Given the description of an element on the screen output the (x, y) to click on. 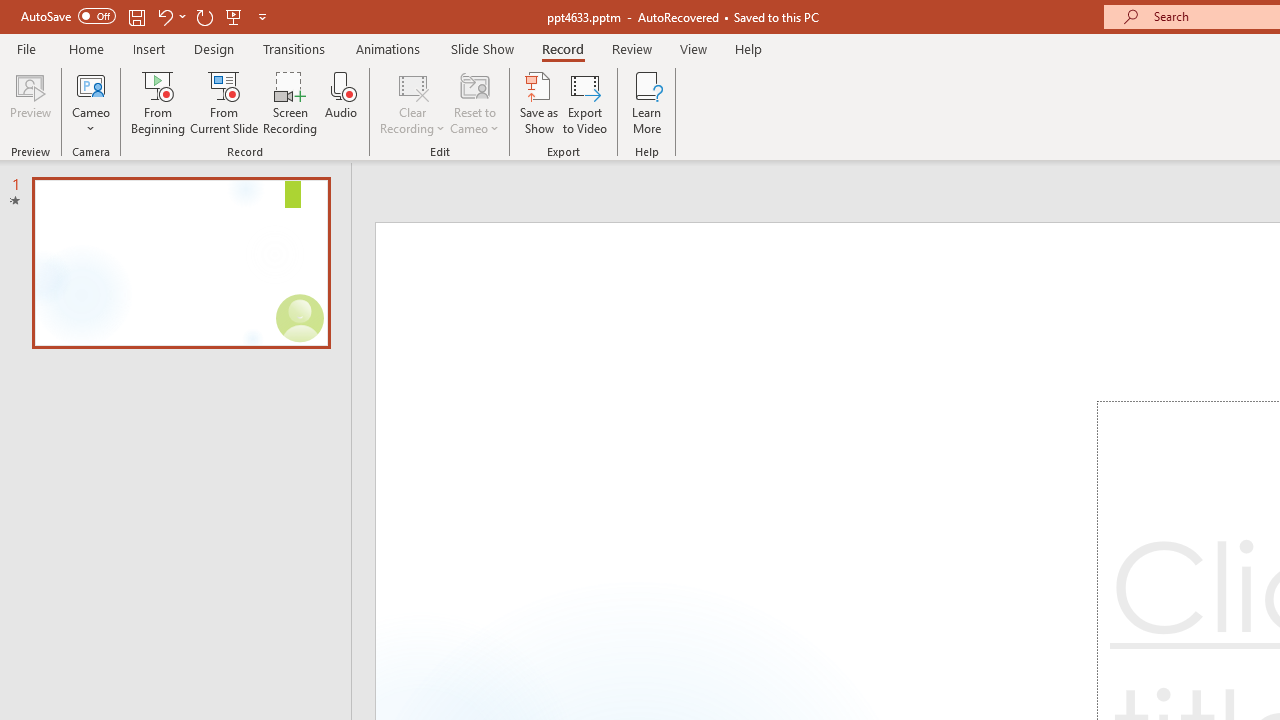
From Current Slide... (224, 102)
Save as Show (539, 102)
Screen Recording (290, 102)
